Given the description of an element on the screen output the (x, y) to click on. 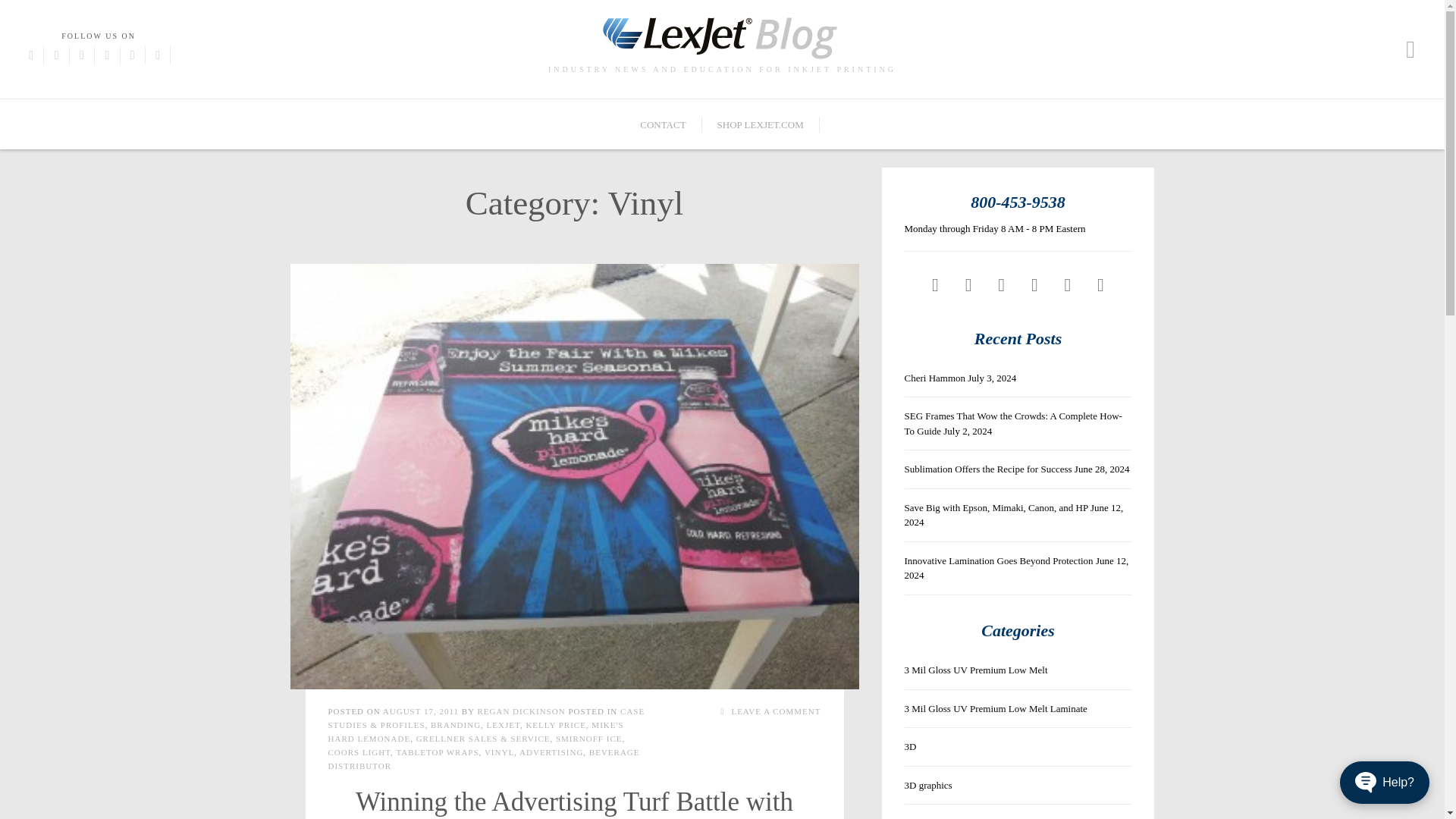
Cheri Hammon (934, 377)
AUGUST 17, 2011 (421, 710)
REGAN DICKINSON (520, 710)
COORS LIGHT (358, 751)
Linkedin (132, 54)
KELLY PRICE (555, 724)
Sublimation Offers the Recipe for Success (987, 469)
RSS (1100, 284)
VINYL (498, 751)
SMIRNOFF ICE (589, 737)
MIKE'S HARD LEMONADE (475, 731)
BEVERAGE DISTRIBUTOR (483, 758)
Facebook (31, 54)
Youtube (1034, 284)
BRANDING (455, 724)
